Given the description of an element on the screen output the (x, y) to click on. 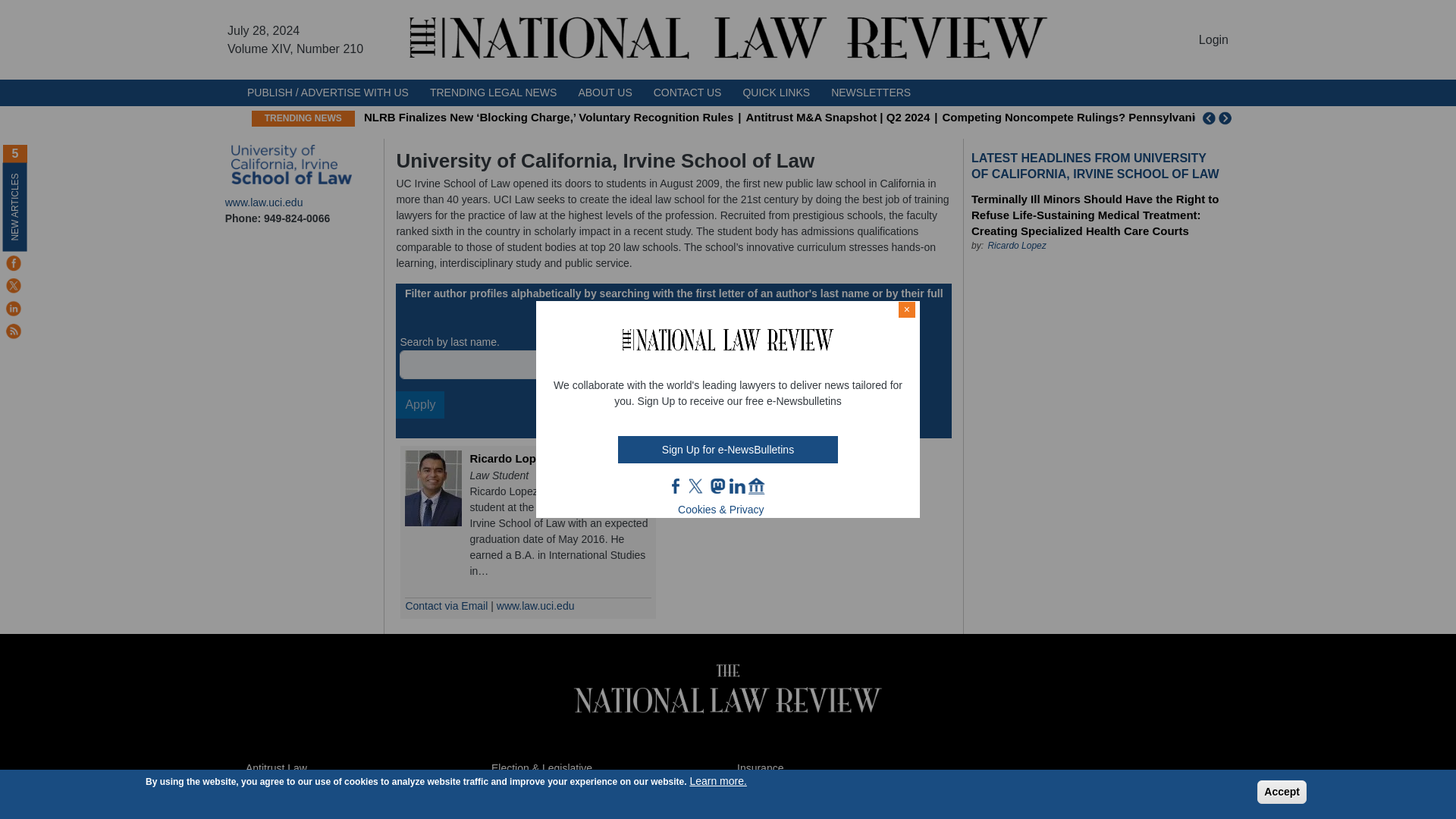
Home (727, 39)
Login (1213, 39)
